Given the description of an element on the screen output the (x, y) to click on. 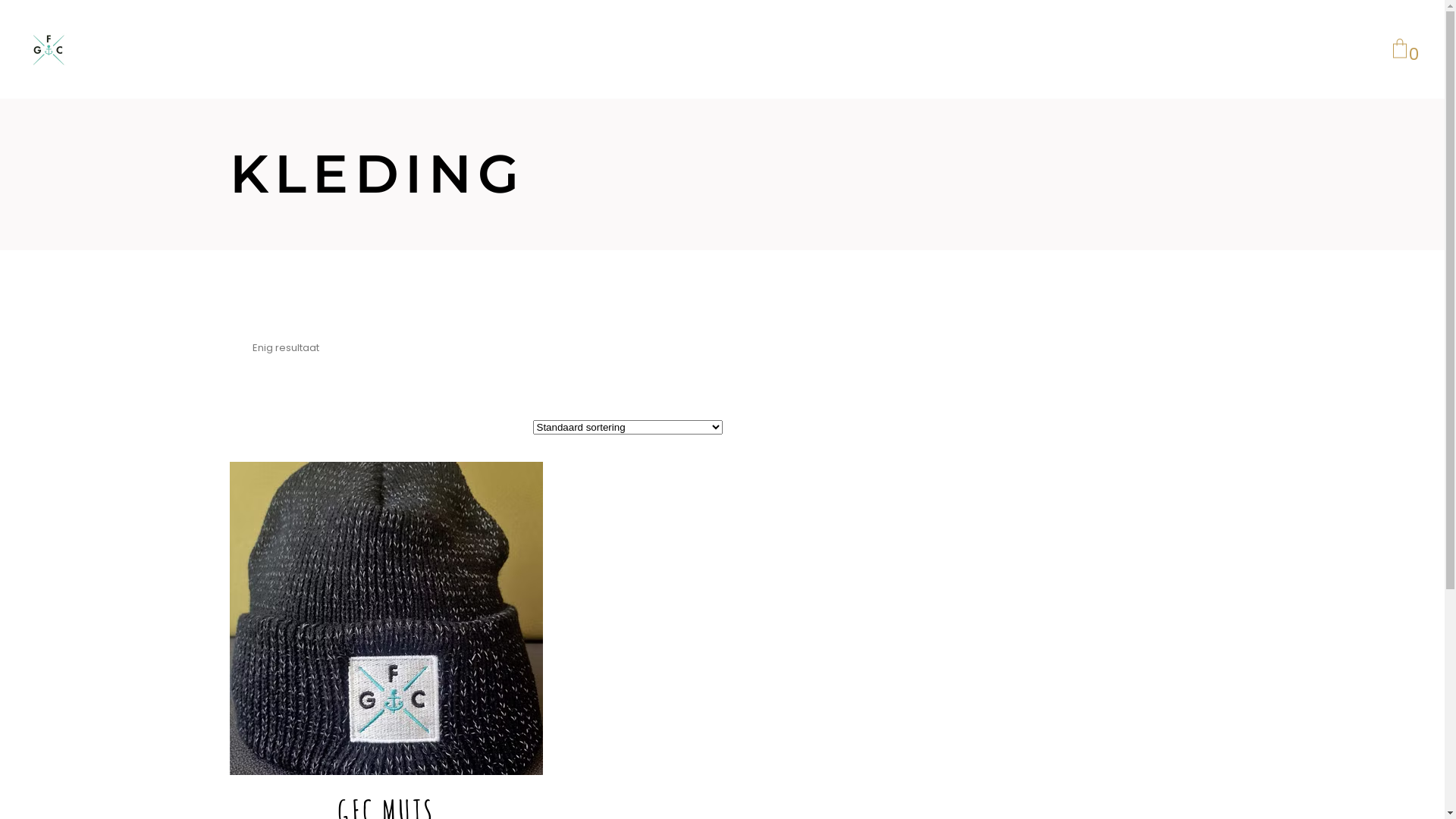
0 Element type: text (1399, 49)
